Given the description of an element on the screen output the (x, y) to click on. 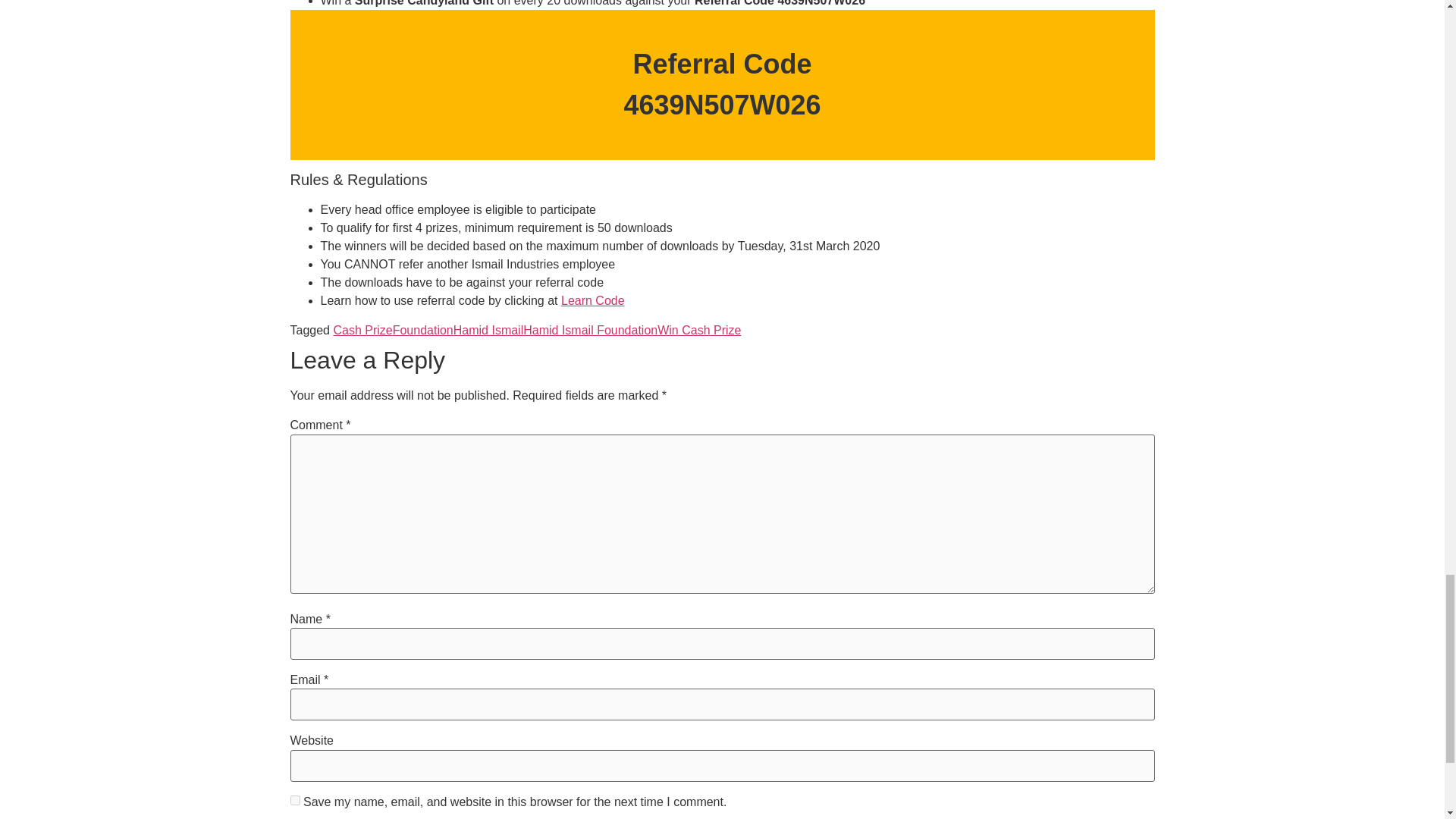
yes (294, 800)
Win Cash Prize (699, 329)
Learn Code (592, 300)
Foundation (422, 329)
Cash Prize (362, 329)
Hamid Ismail Foundation (590, 329)
Hamid Ismail (487, 329)
